Given the description of an element on the screen output the (x, y) to click on. 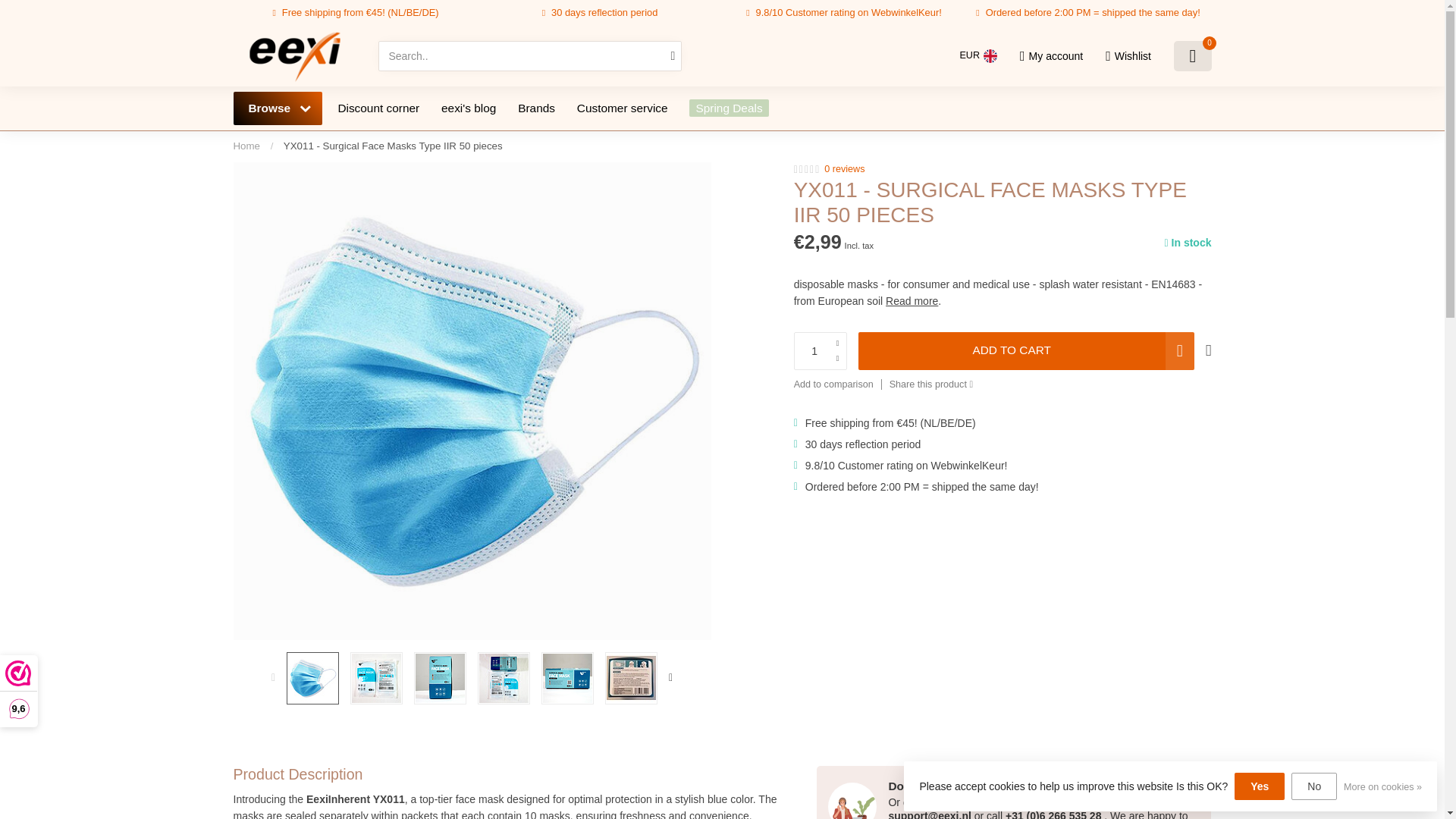
0 (1192, 55)
1 (1060, 244)
1 (820, 351)
My account (1051, 55)
Wishlist (1128, 55)
Wishlist (1128, 55)
Home (246, 145)
